Given the description of an element on the screen output the (x, y) to click on. 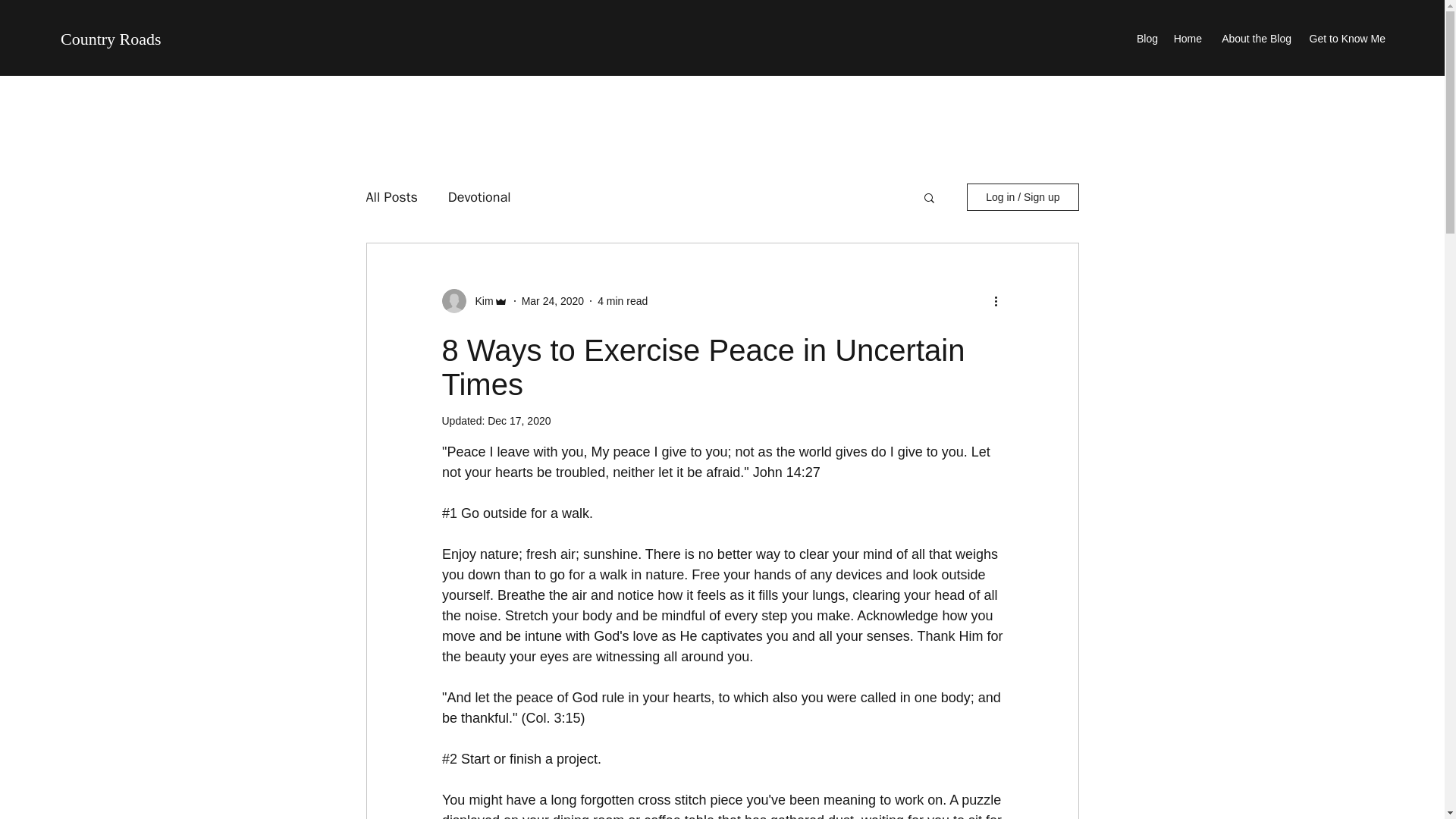
Home (1187, 38)
All Posts (390, 197)
About the Blog (1253, 38)
Dec 17, 2020 (518, 420)
Mar 24, 2020 (553, 300)
4 min read (621, 300)
Devotional (479, 197)
Kim (479, 301)
Country Roads (111, 38)
Get to Know Me (1345, 38)
Blog (1147, 38)
